Given the description of an element on the screen output the (x, y) to click on. 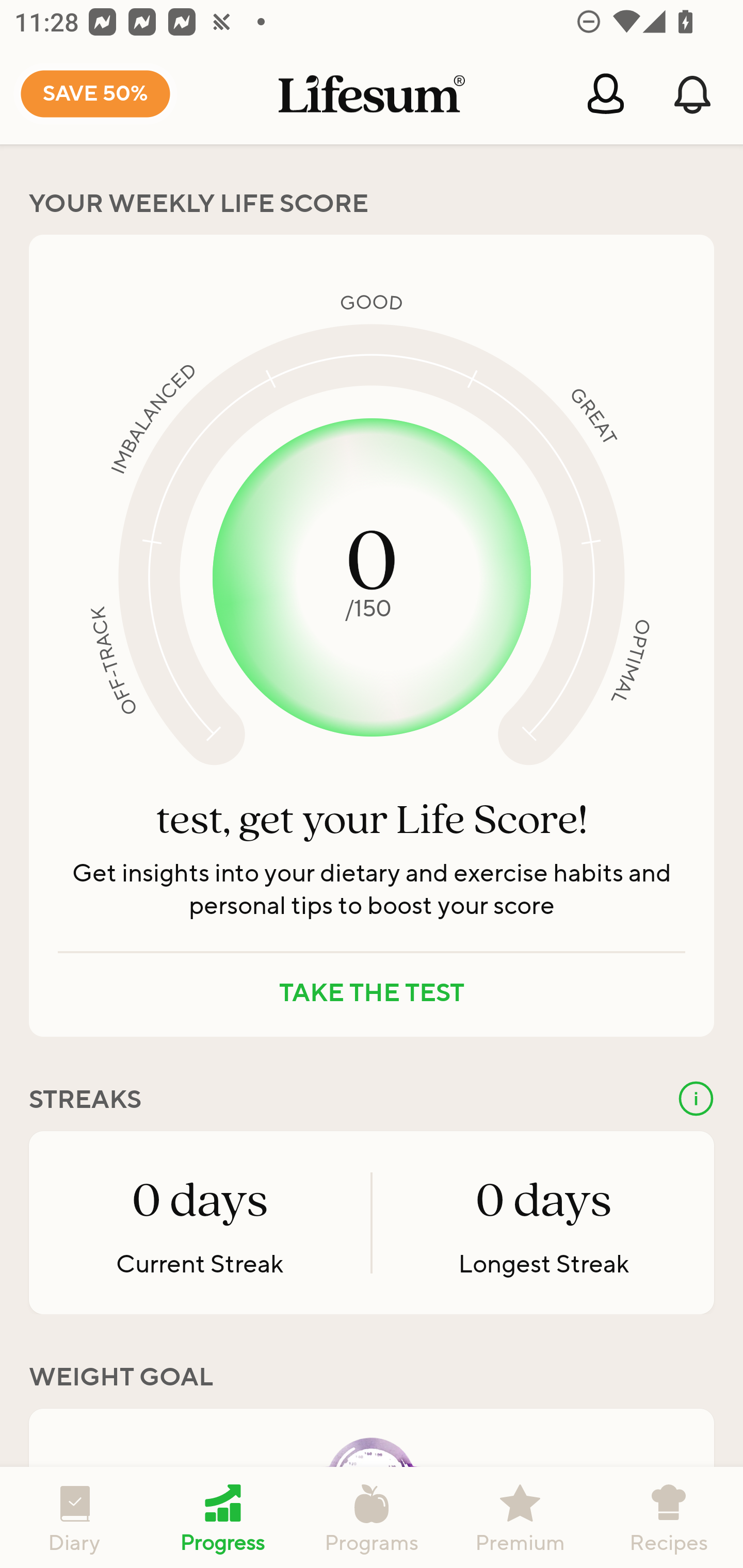
TAKE THE TEST (371, 993)
Diary (74, 1517)
Programs (371, 1517)
Premium (519, 1517)
Recipes (668, 1517)
